Given the description of an element on the screen output the (x, y) to click on. 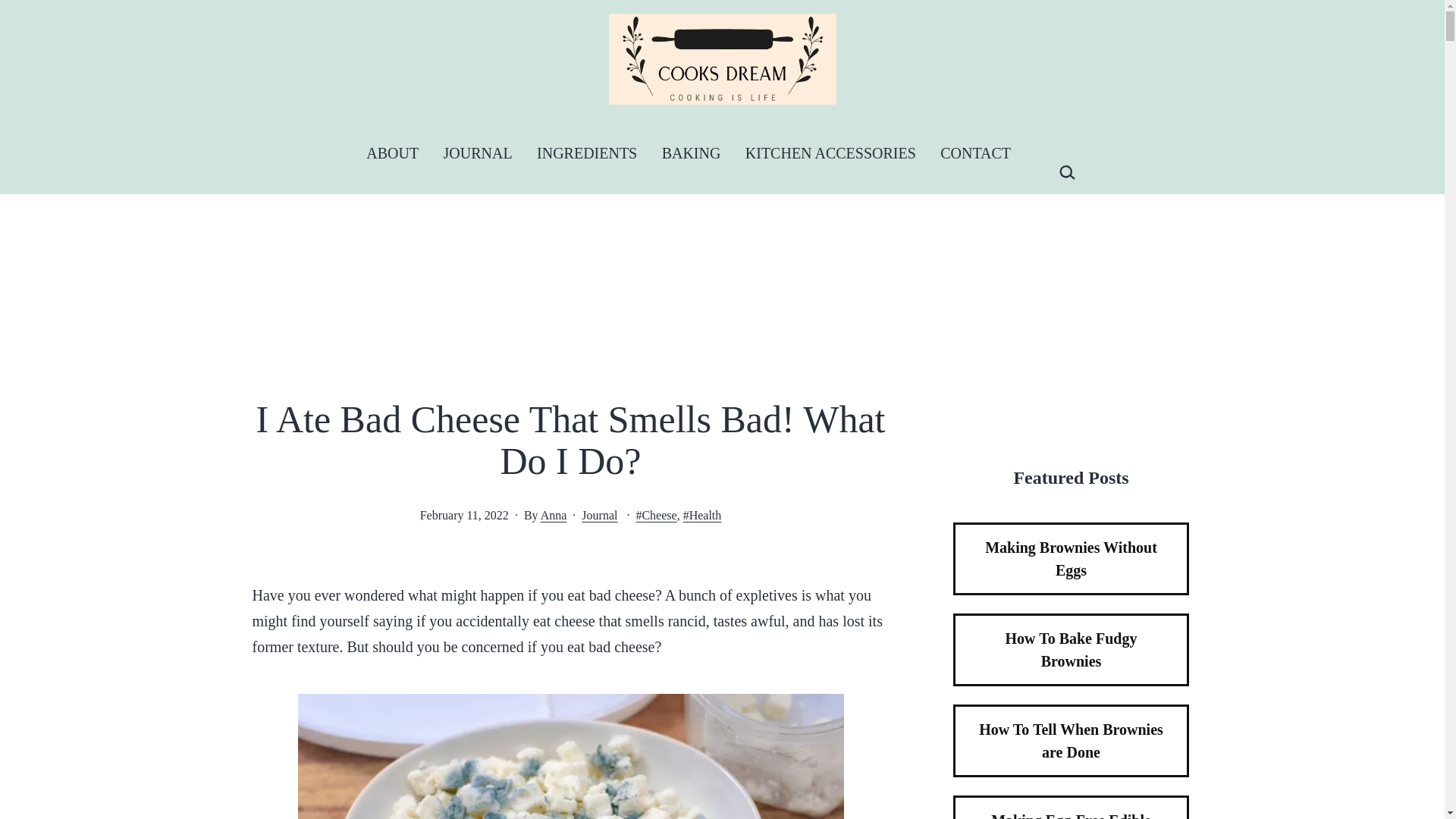
BAKING (690, 153)
Health (702, 514)
INGREDIENTS (587, 153)
Anna (553, 514)
ABOUT (392, 153)
JOURNAL (477, 153)
KITCHEN ACCESSORIES (830, 153)
Cheese (655, 514)
CONTACT (975, 153)
Journal (598, 514)
